Given the description of an element on the screen output the (x, y) to click on. 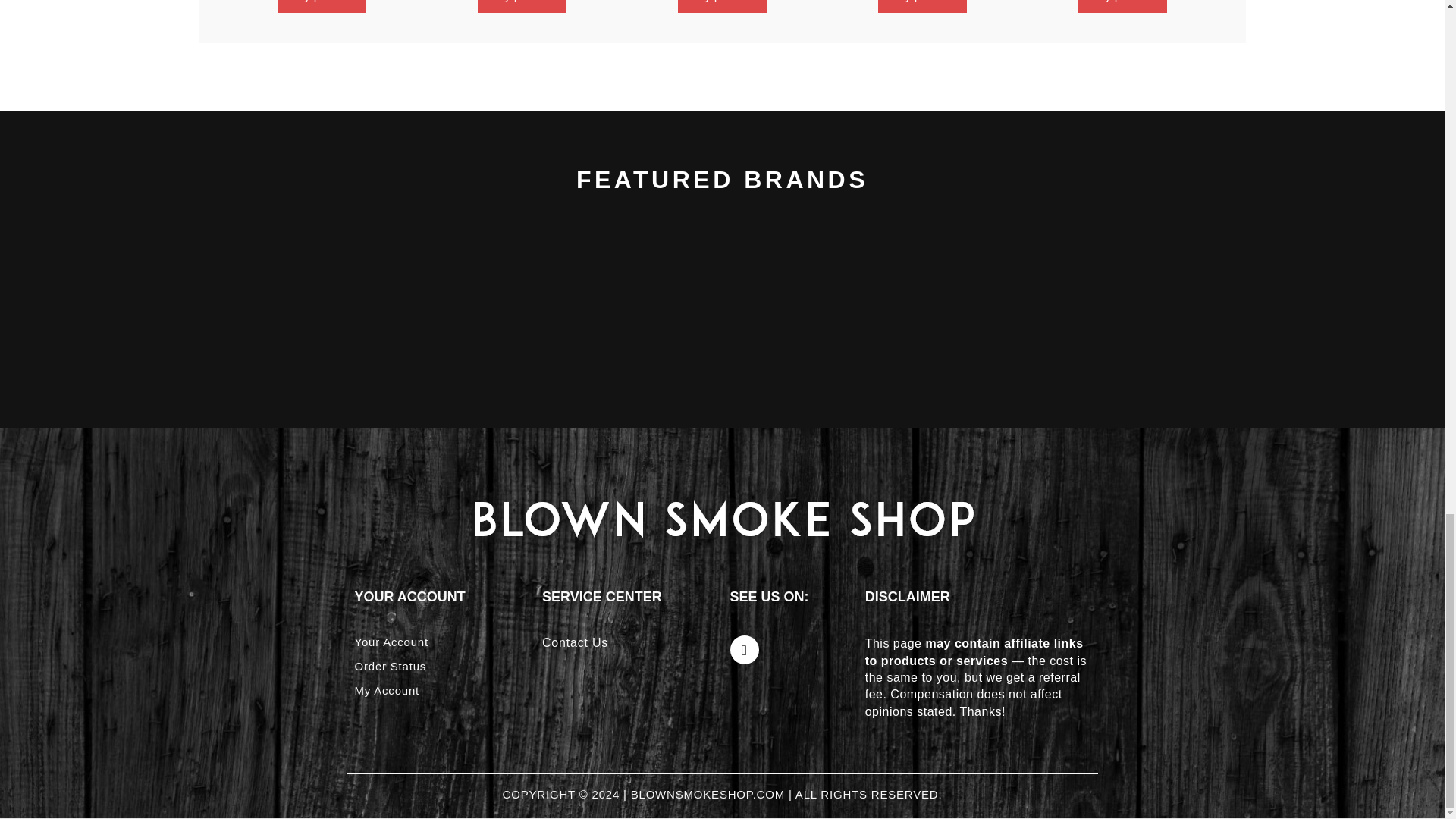
Buy product (921, 6)
Buy product (322, 6)
Contact Us (574, 642)
Buy product (521, 6)
Buy product (722, 6)
Buy product (1122, 6)
